Given the description of an element on the screen output the (x, y) to click on. 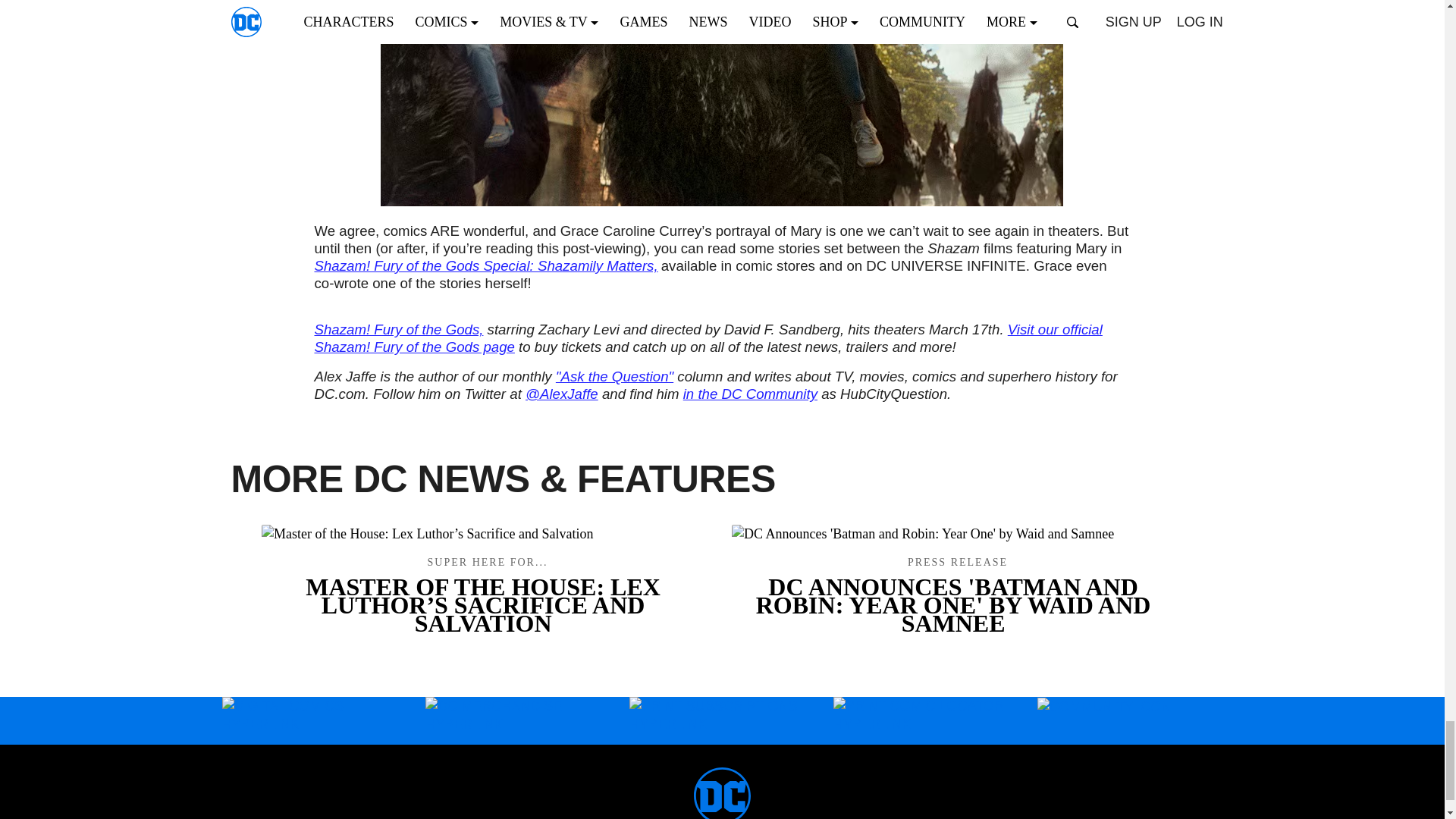
DC Announces 'Batman and Robin: Year One' by Waid and Samnee (956, 595)
DC Announces 'Batman and Robin: Year One' by Waid and Samnee (956, 532)
DC Announces 'Batman and Robin: Year One' by Waid and Samnee (956, 593)
